Given the description of an element on the screen output the (x, y) to click on. 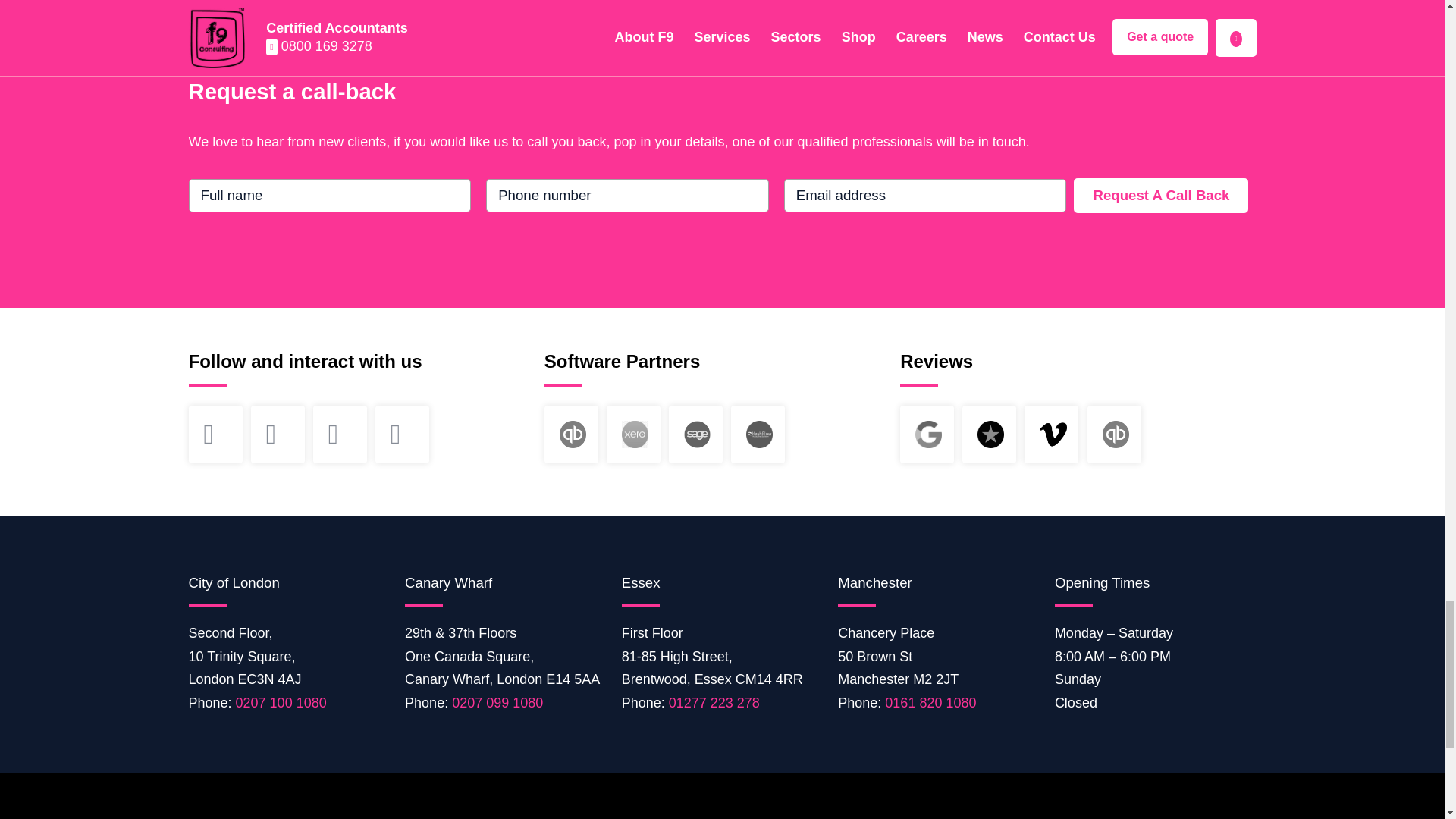
Request A Call Back (1160, 195)
